Given the description of an element on the screen output the (x, y) to click on. 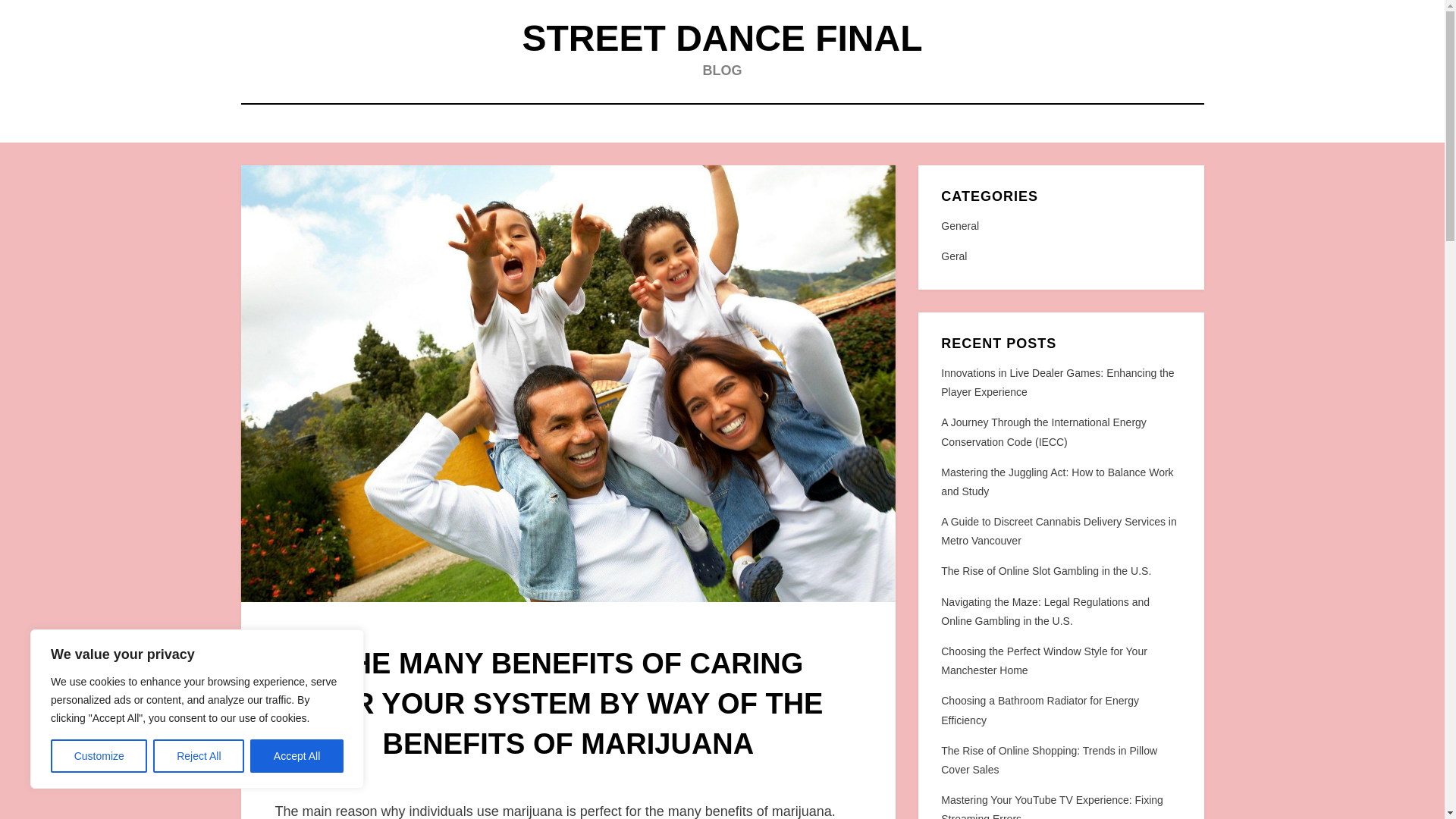
Accept All (296, 756)
STREET DANCE FINAL (721, 38)
Mastering the Juggling Act: How to Balance Work and Study (1056, 481)
Choosing the Perfect Window Style for Your Manchester Home (1043, 660)
Street Dance Final (721, 38)
Customize (98, 756)
General (1060, 226)
